Given the description of an element on the screen output the (x, y) to click on. 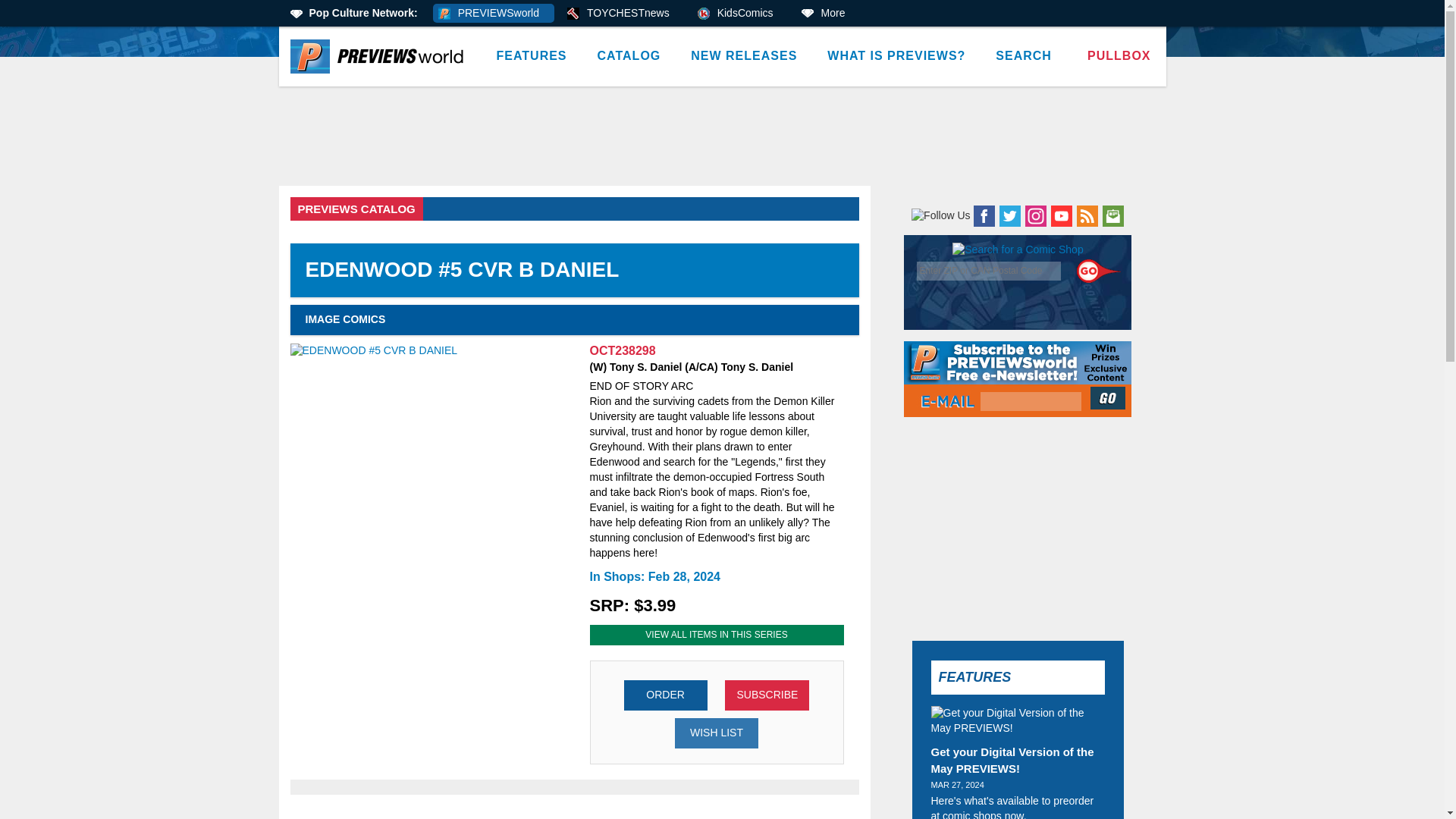
TOYCHESTnews (623, 13)
KidsComics (741, 13)
FEATURES (530, 55)
More (828, 13)
CATALOG (629, 55)
Join Our NewsLetter (1109, 397)
Enter ZIP or CAN Postal Code (989, 270)
Email Address Input for Newsletter Signup (1030, 401)
PREVIEWSworld (493, 13)
